Given the description of an element on the screen output the (x, y) to click on. 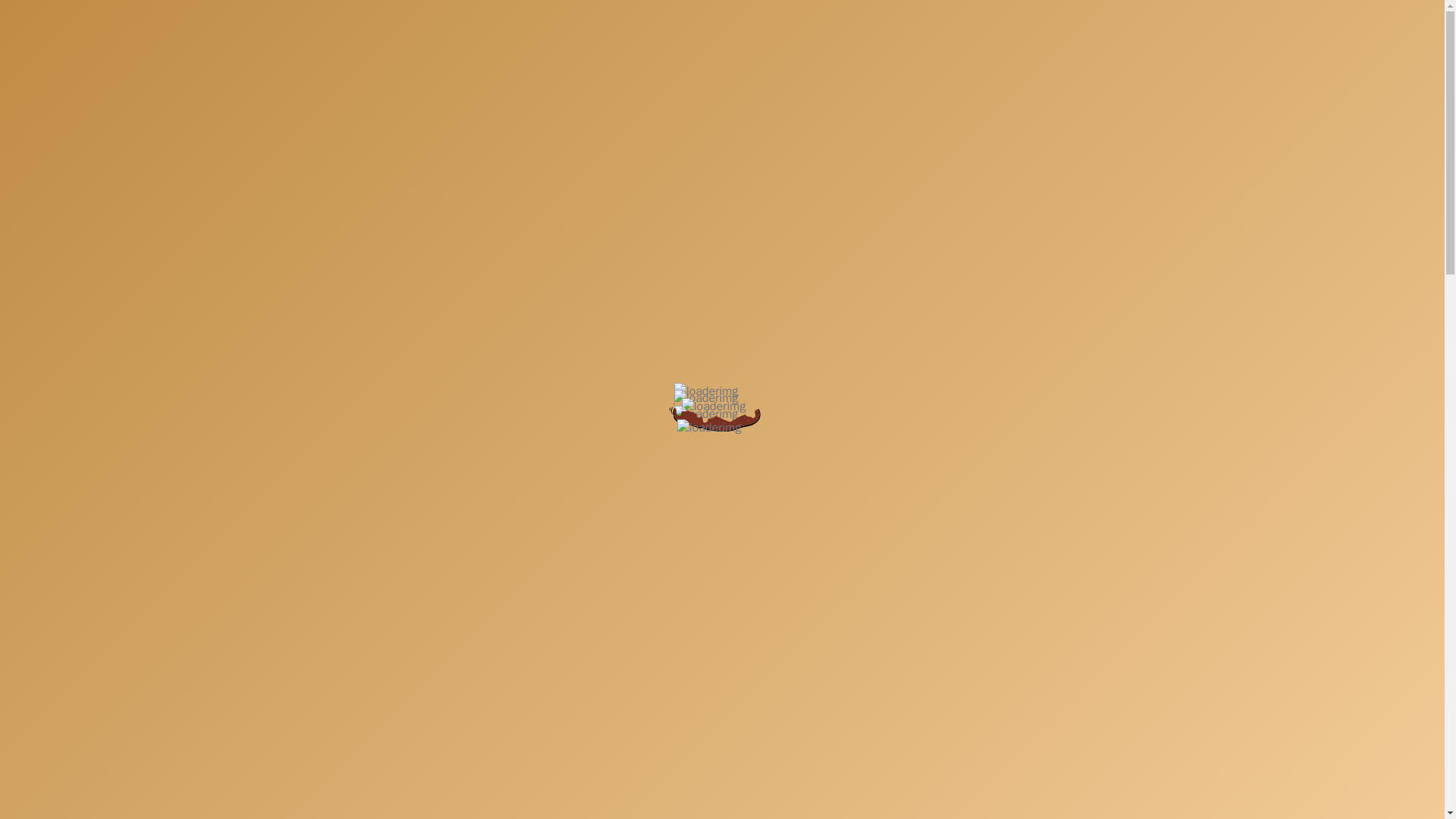
0 COMMENT (792, 195)
No Registration Sign Up Bonus Casinos Greece (364, 458)
OCTOBER 31, 2023 (690, 195)
Win Card Games No Deposit No Wager Gr 2023 (366, 694)
